Given the description of an element on the screen output the (x, y) to click on. 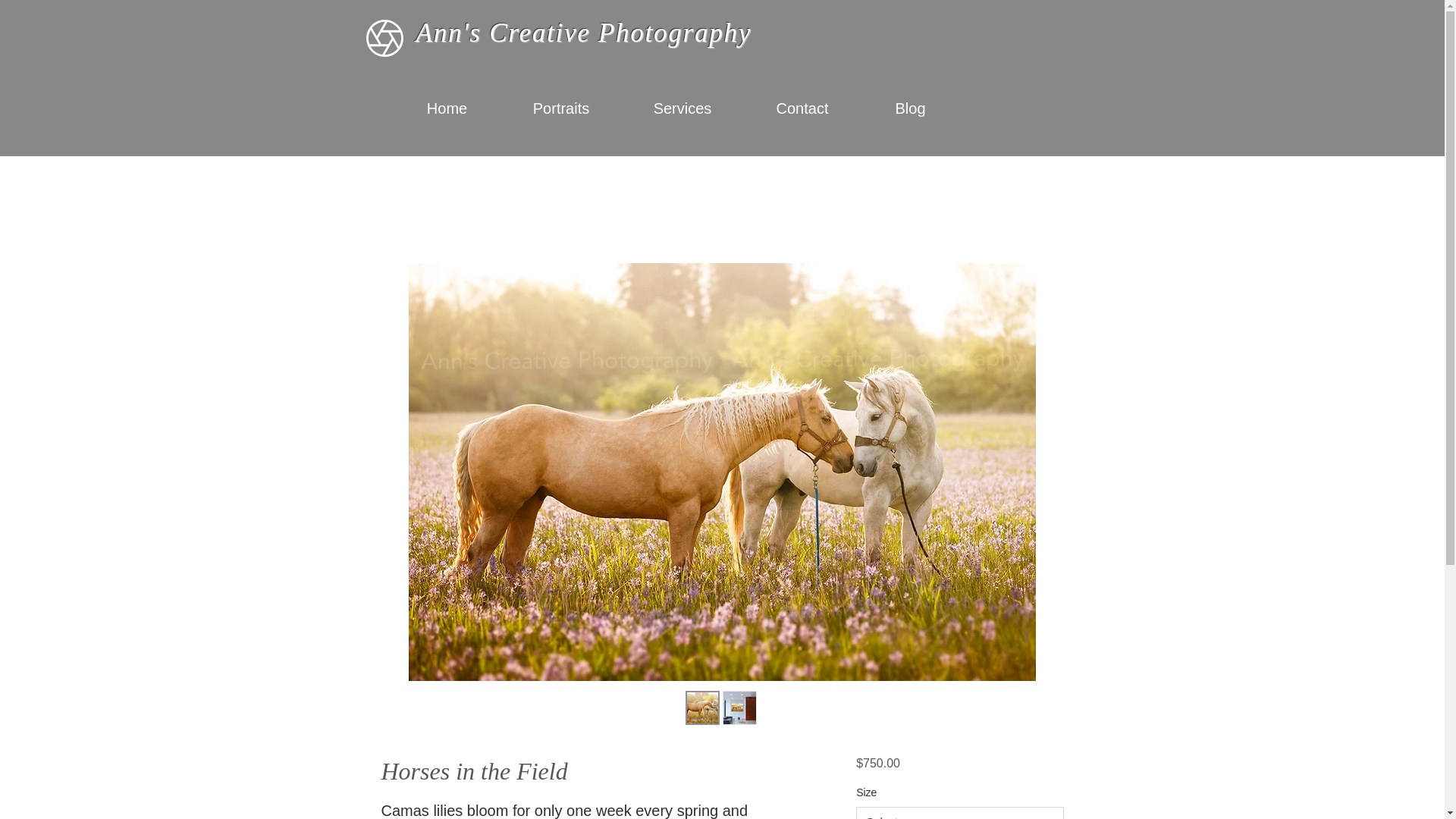
Home (447, 108)
Services (681, 108)
Blog (909, 108)
Ann's Creative Photography (582, 32)
Contact (801, 108)
Select (959, 812)
